Given the description of an element on the screen output the (x, y) to click on. 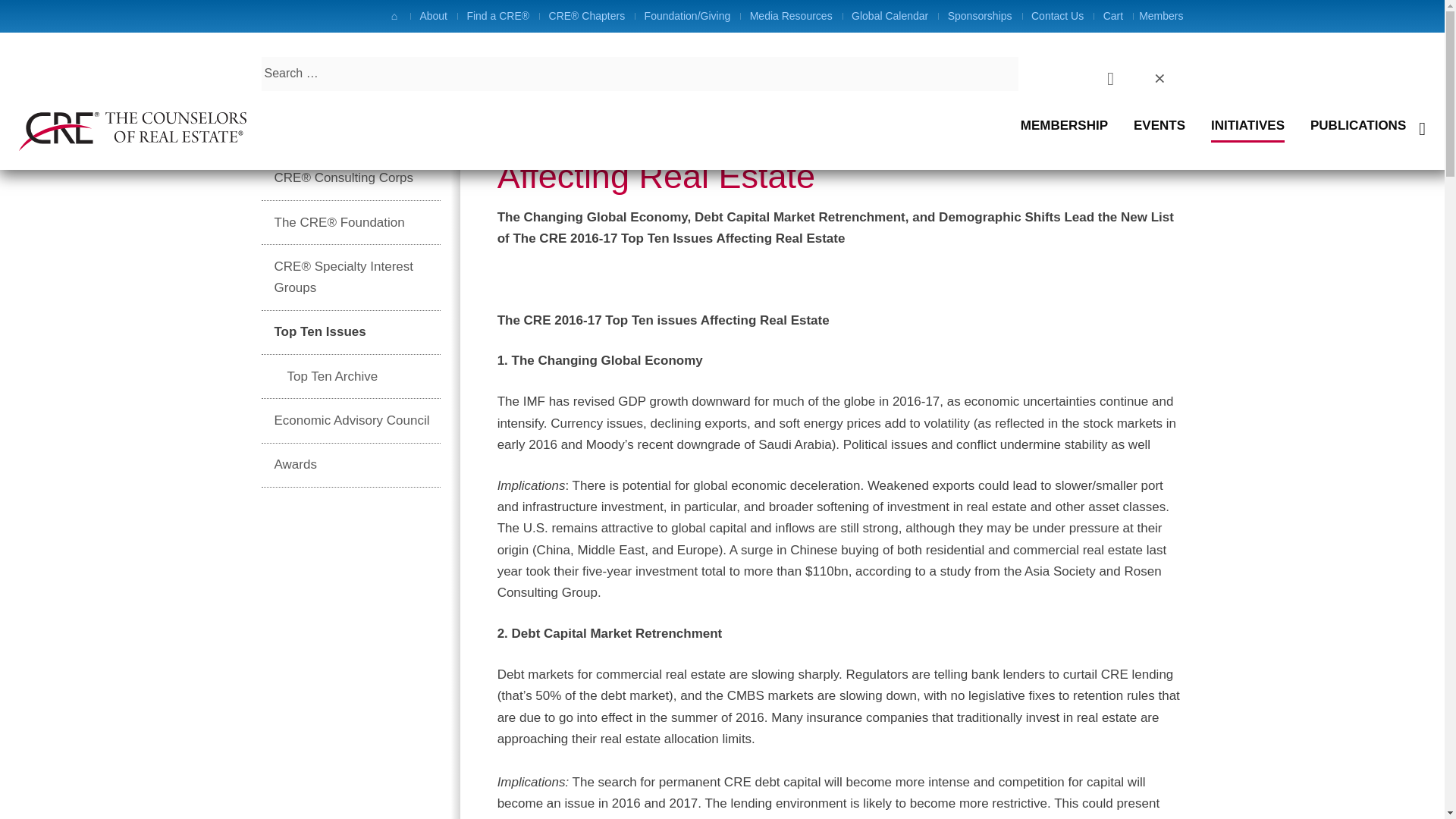
Go to the Top Ten Issues category archives. (342, 70)
Members (1158, 15)
Contact Us (1060, 15)
Sponsorships (982, 15)
Go (282, 73)
Go (282, 73)
Go to Counselors of Real Estate. (263, 70)
EVENTS (1159, 128)
Global Calendar (892, 15)
About (435, 15)
